Given the description of an element on the screen output the (x, y) to click on. 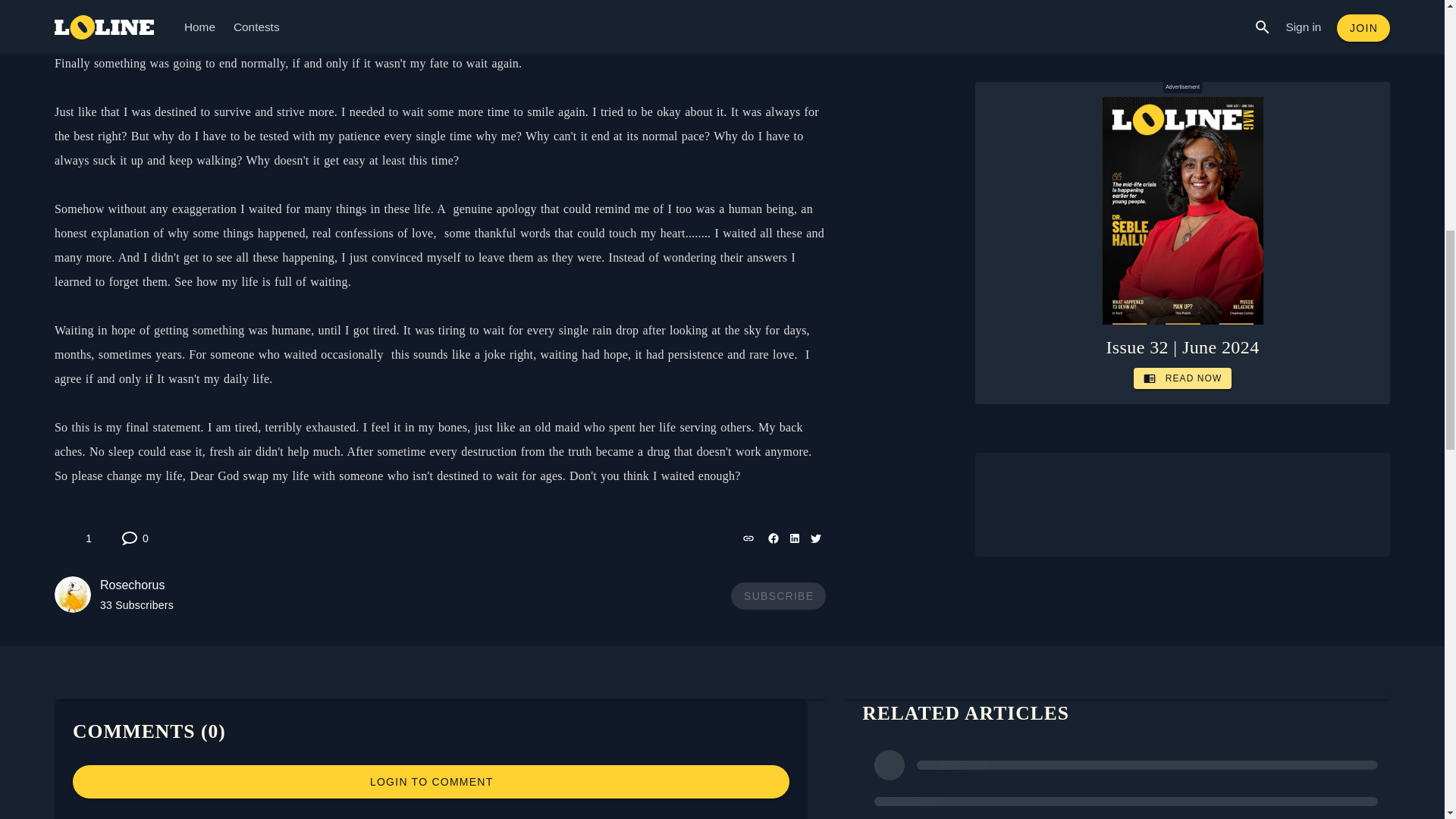
Share on LinkedIn (794, 537)
LOGIN TO COMMENT (114, 594)
SUBSCRIBE (430, 781)
Copy Link (777, 595)
1 (748, 537)
Share on Twitter (79, 538)
0 (815, 537)
Share on Facebook (134, 538)
